Given the description of an element on the screen output the (x, y) to click on. 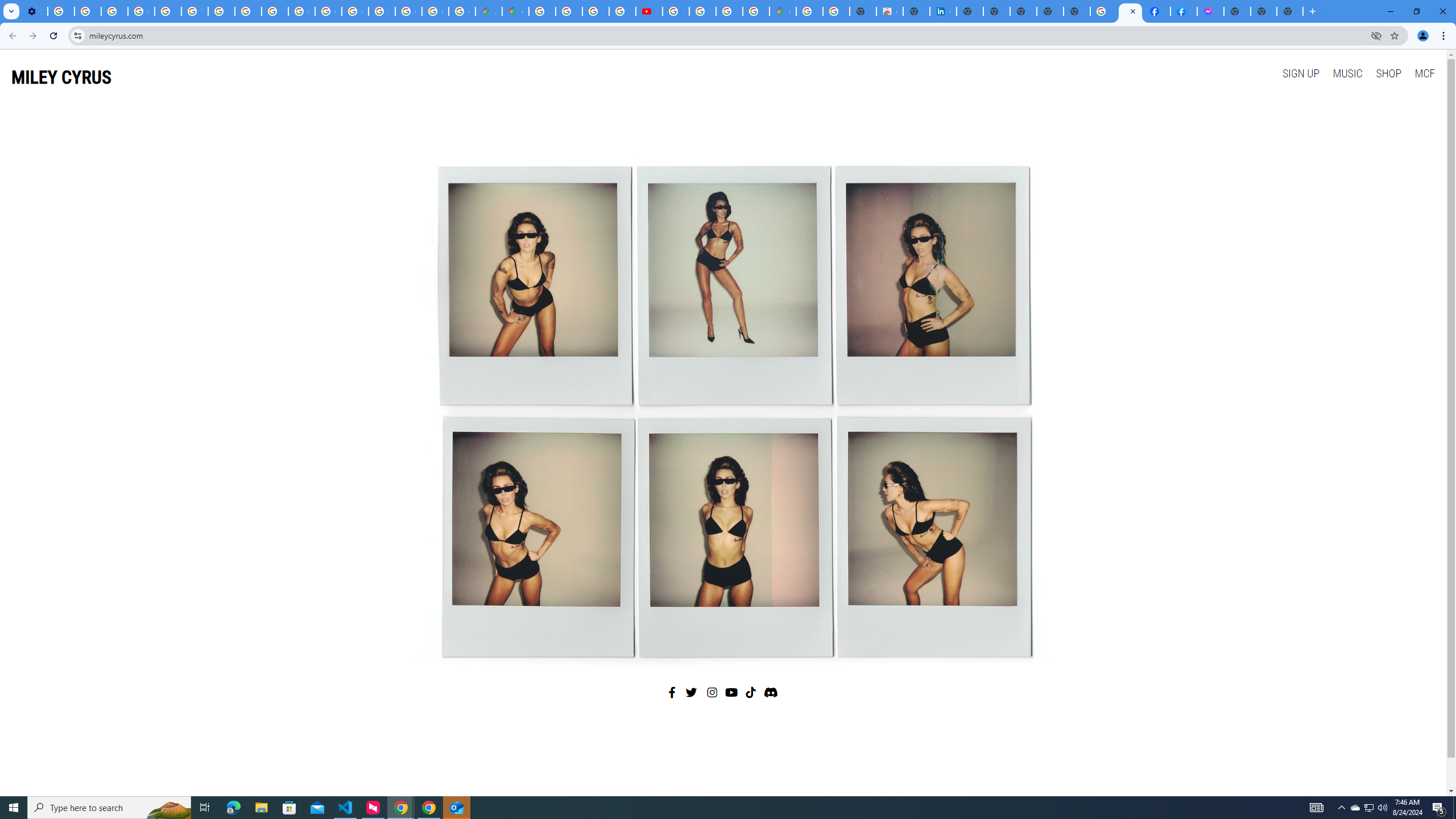
Miley Cyrus (722, 407)
Privacy Help Center - Policies Help (248, 11)
MCF (1424, 73)
